Given the description of an element on the screen output the (x, y) to click on. 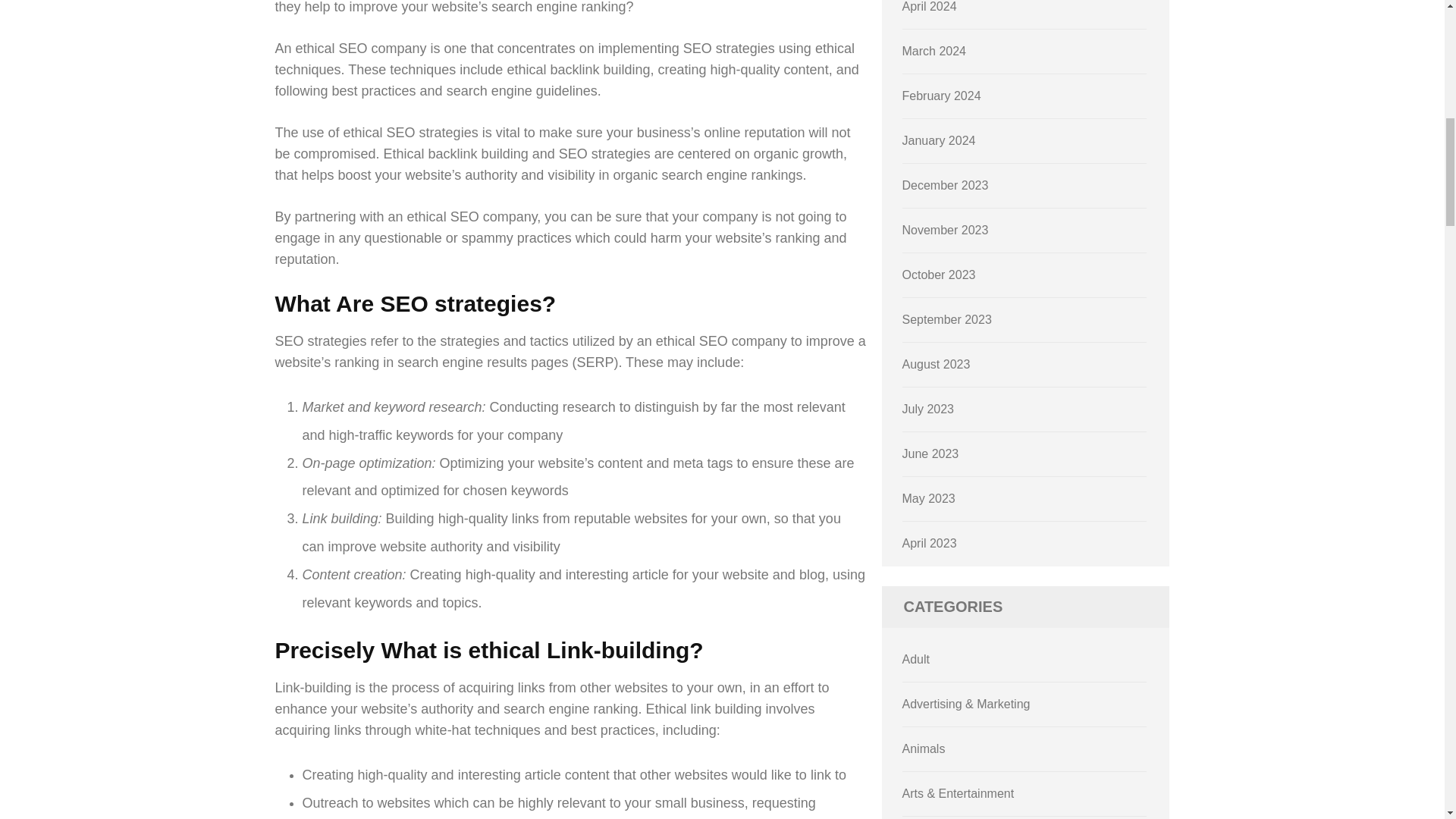
July 2023 (928, 408)
October 2023 (938, 274)
January 2024 (938, 140)
April 2023 (929, 543)
June 2023 (930, 453)
February 2024 (941, 95)
Adult (916, 658)
November 2023 (945, 229)
September 2023 (946, 318)
March 2024 (934, 51)
December 2023 (945, 185)
May 2023 (928, 498)
August 2023 (936, 364)
April 2024 (929, 6)
